Given the description of an element on the screen output the (x, y) to click on. 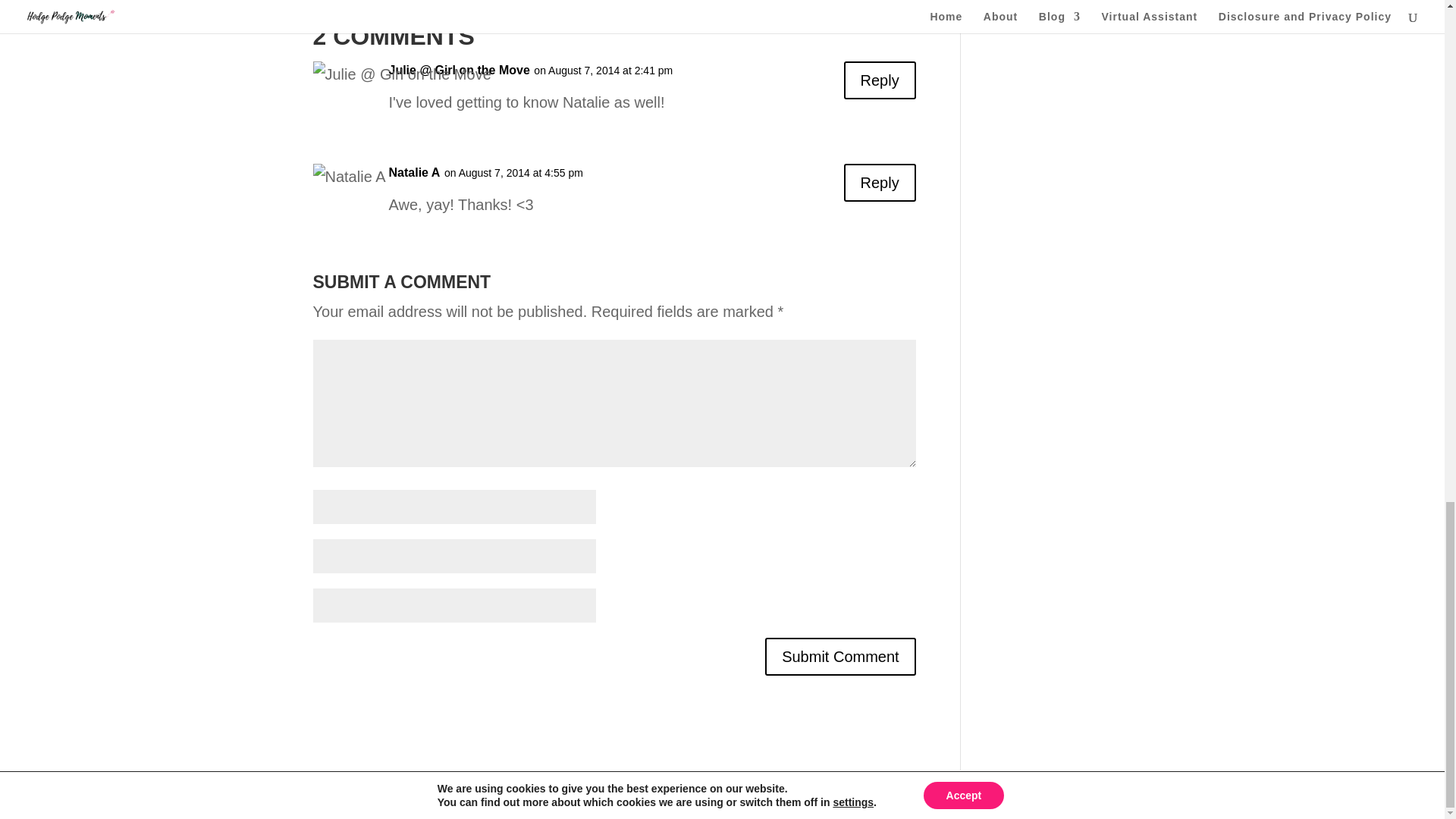
Reply (879, 182)
Submit Comment (840, 656)
Reply (879, 80)
Natalie A (413, 172)
Submit Comment (840, 656)
